Given the description of an element on the screen output the (x, y) to click on. 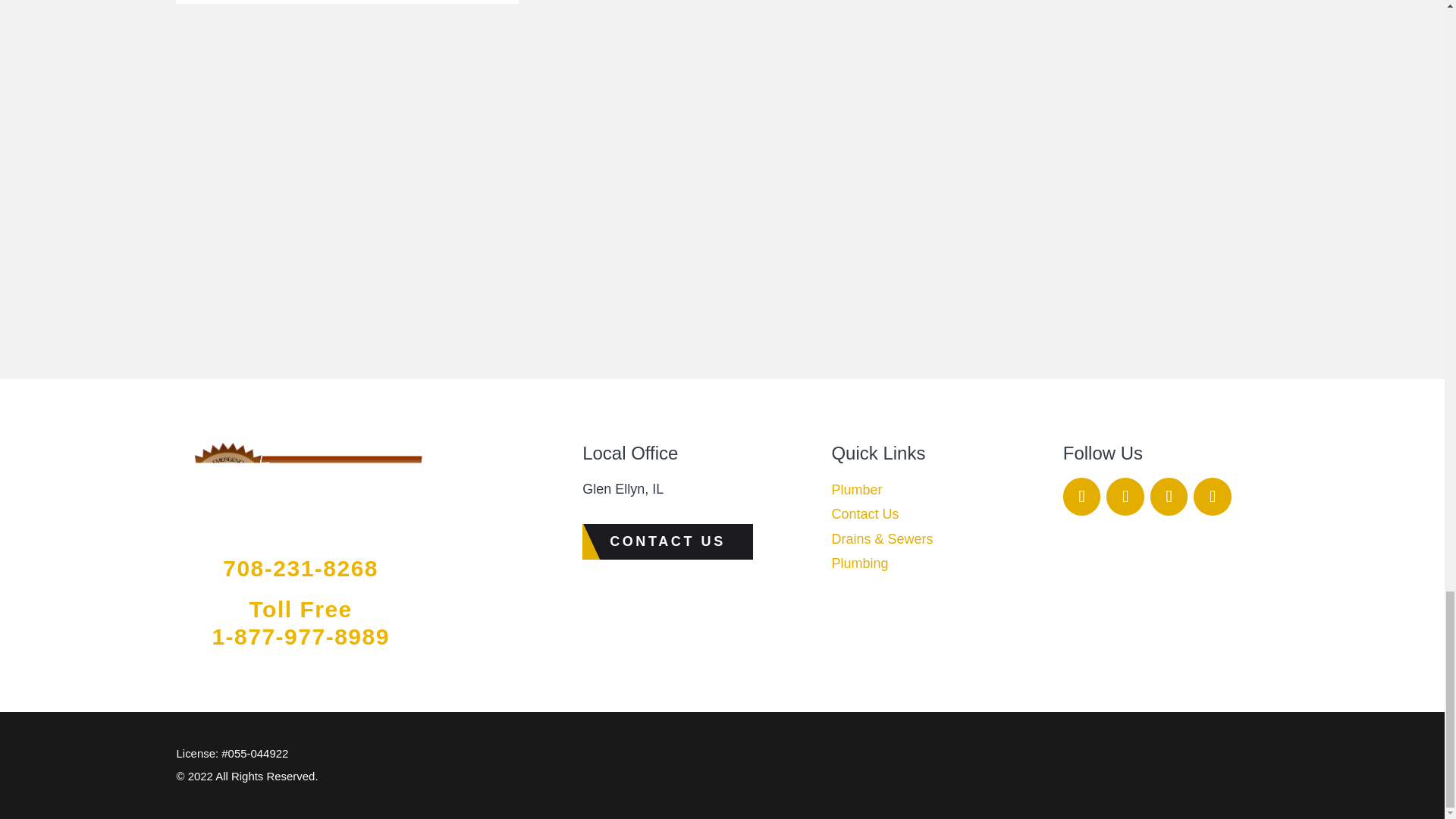
Follow on google-plus (1169, 496)
Follow on X (1125, 496)
Follow on Youtube (1212, 496)
Follow on Facebook (1081, 496)
transparent247 logo NEW 4-21-21 (300, 491)
